Given the description of an element on the screen output the (x, y) to click on. 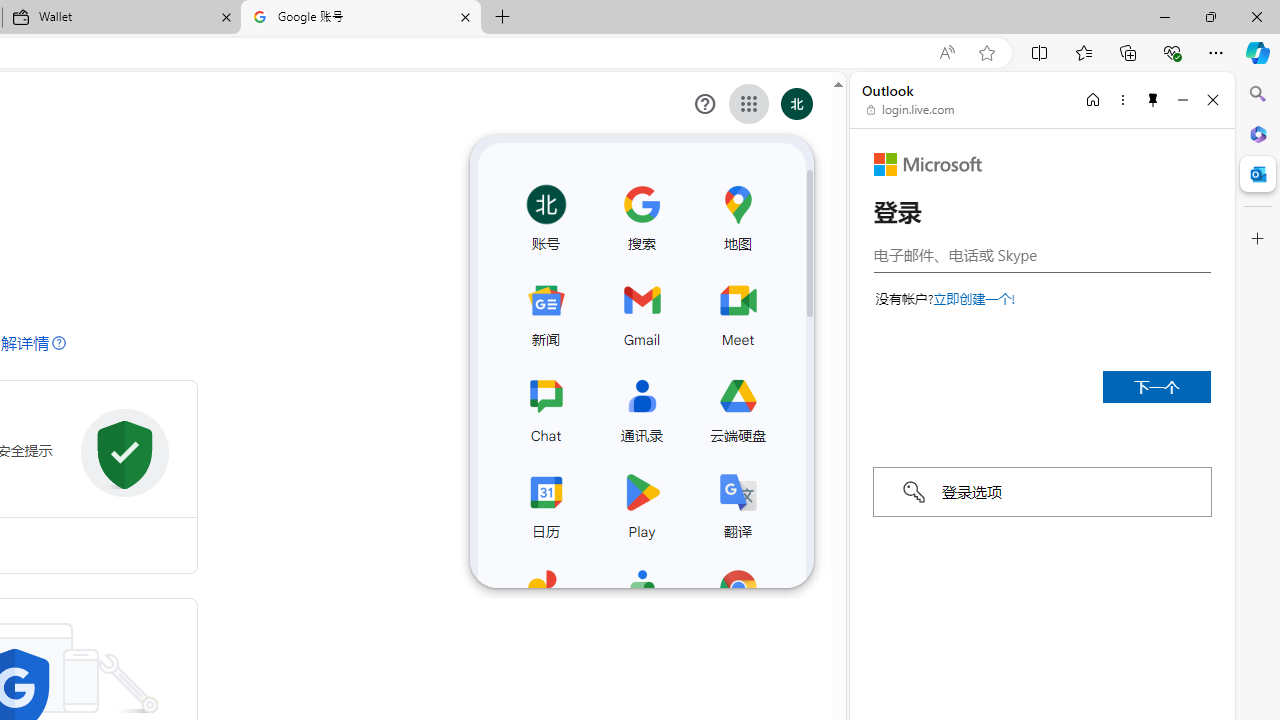
Microsoft (927, 164)
Chat (545, 407)
Meet (737, 310)
